Given the description of an element on the screen output the (x, y) to click on. 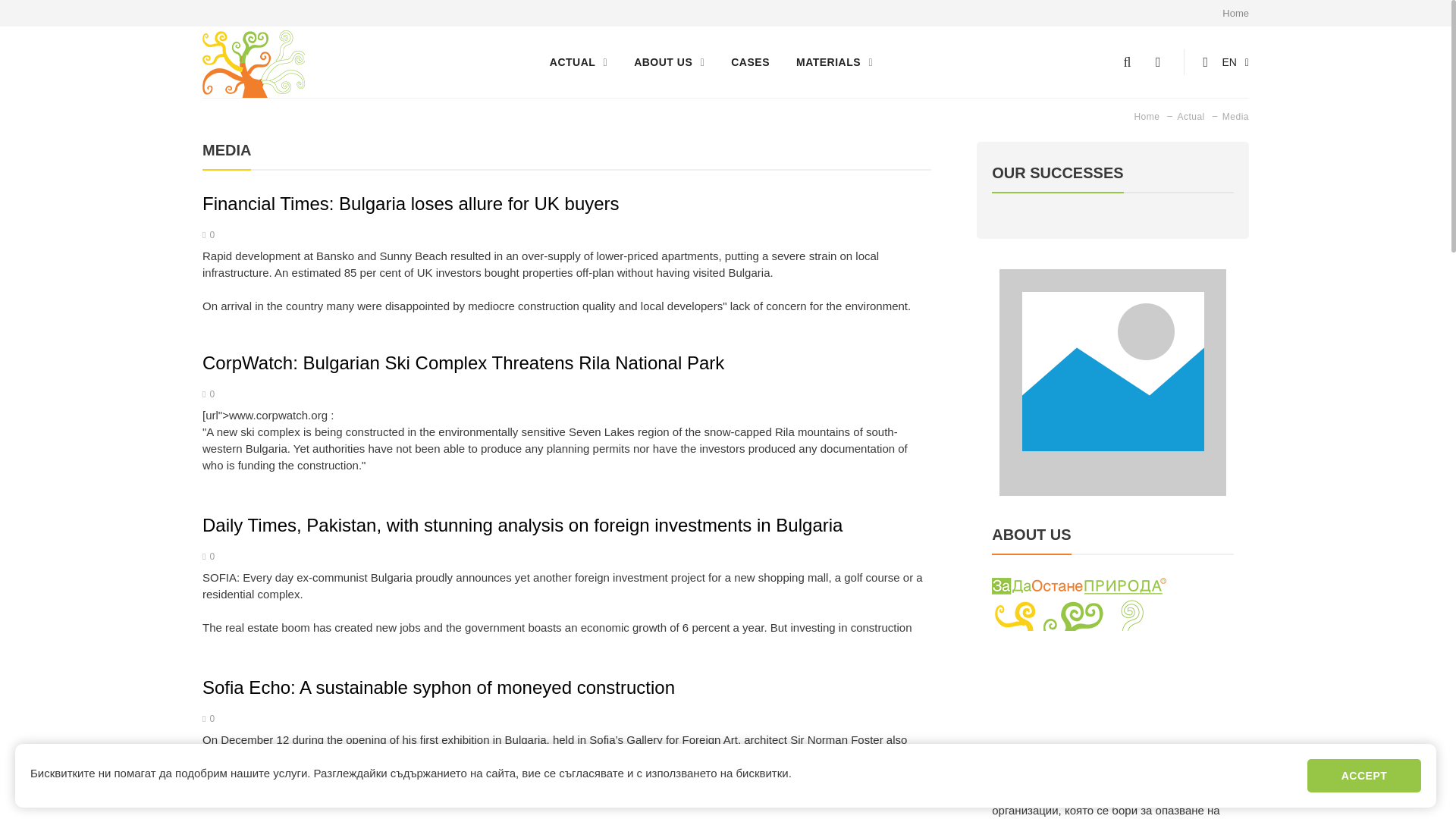
Home (1146, 116)
CASES (750, 61)
ACTUAL (578, 61)
Financial Times: Bulgaria loses allure for UK buyers (411, 203)
MATERIALS (834, 61)
Actual (1183, 115)
ABOUT US (668, 61)
Sofia Echo: A sustainable syphon of moneyed construction (438, 687)
Media (1228, 115)
